Given the description of an element on the screen output the (x, y) to click on. 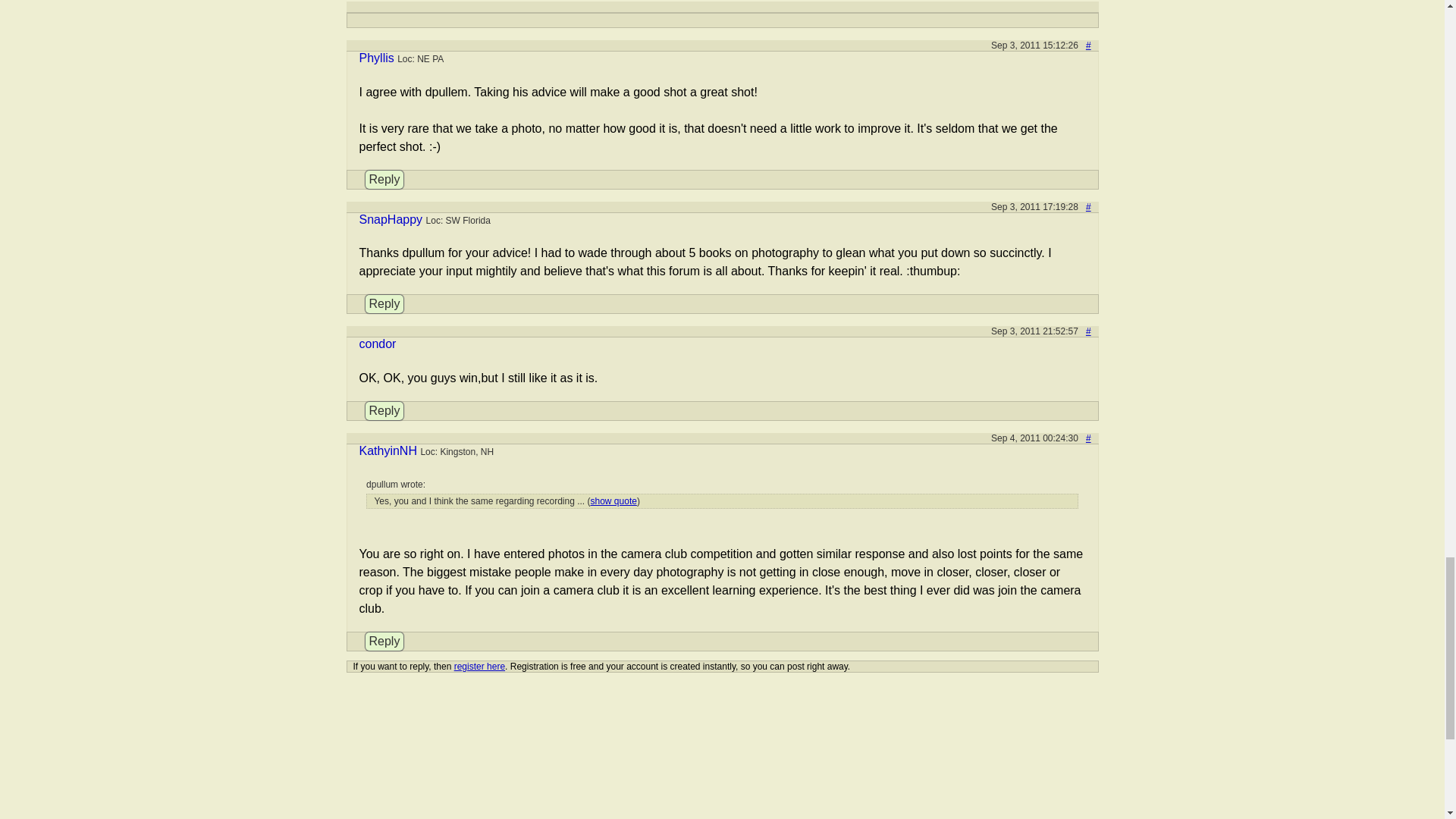
SnapHappy (391, 219)
Reply (384, 303)
Reply (384, 179)
Reply (384, 411)
Phyllis (376, 57)
condor (377, 343)
KathyinNH (387, 450)
